Given the description of an element on the screen output the (x, y) to click on. 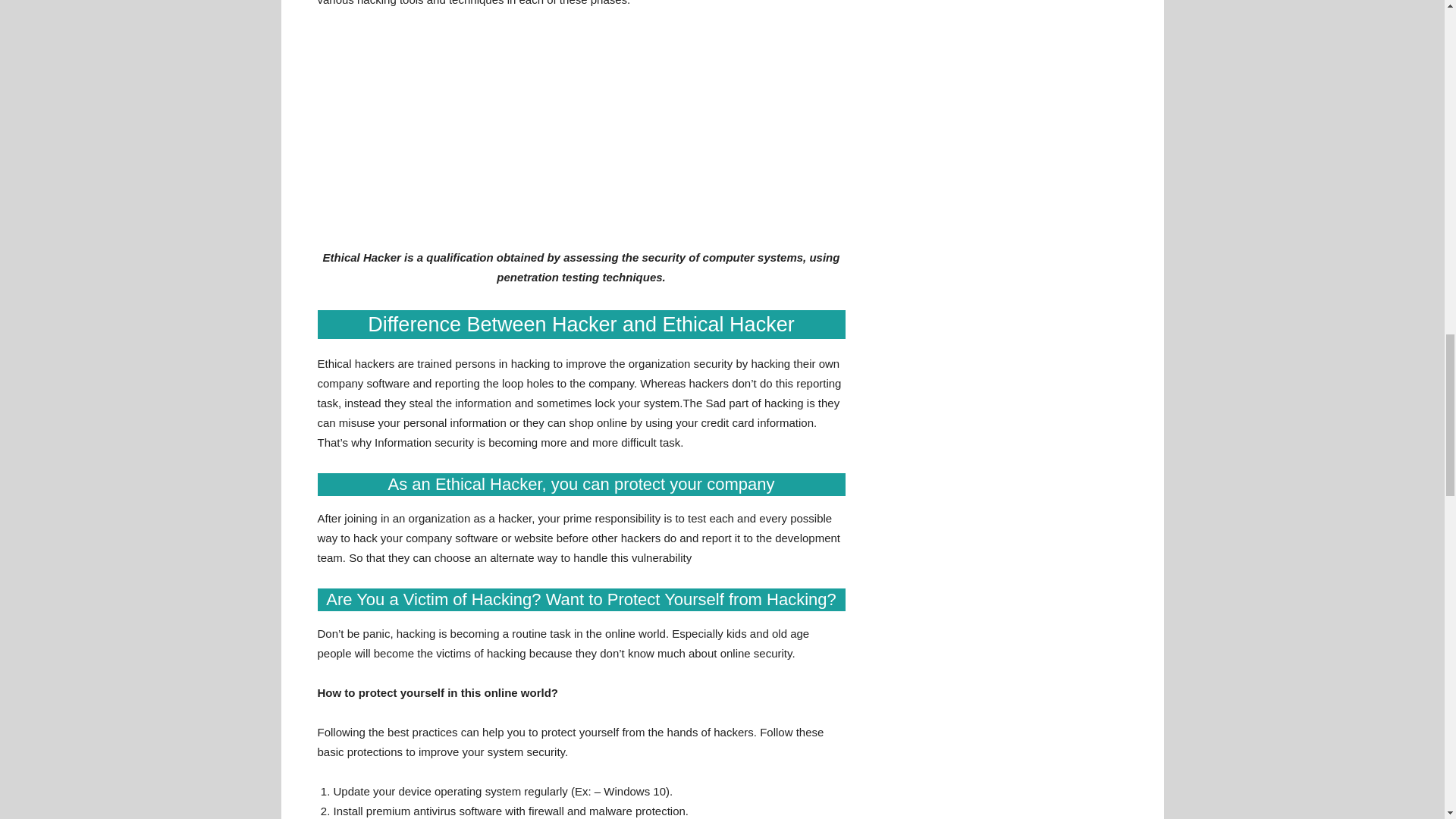
Advertisement (580, 135)
